Given the description of an element on the screen output the (x, y) to click on. 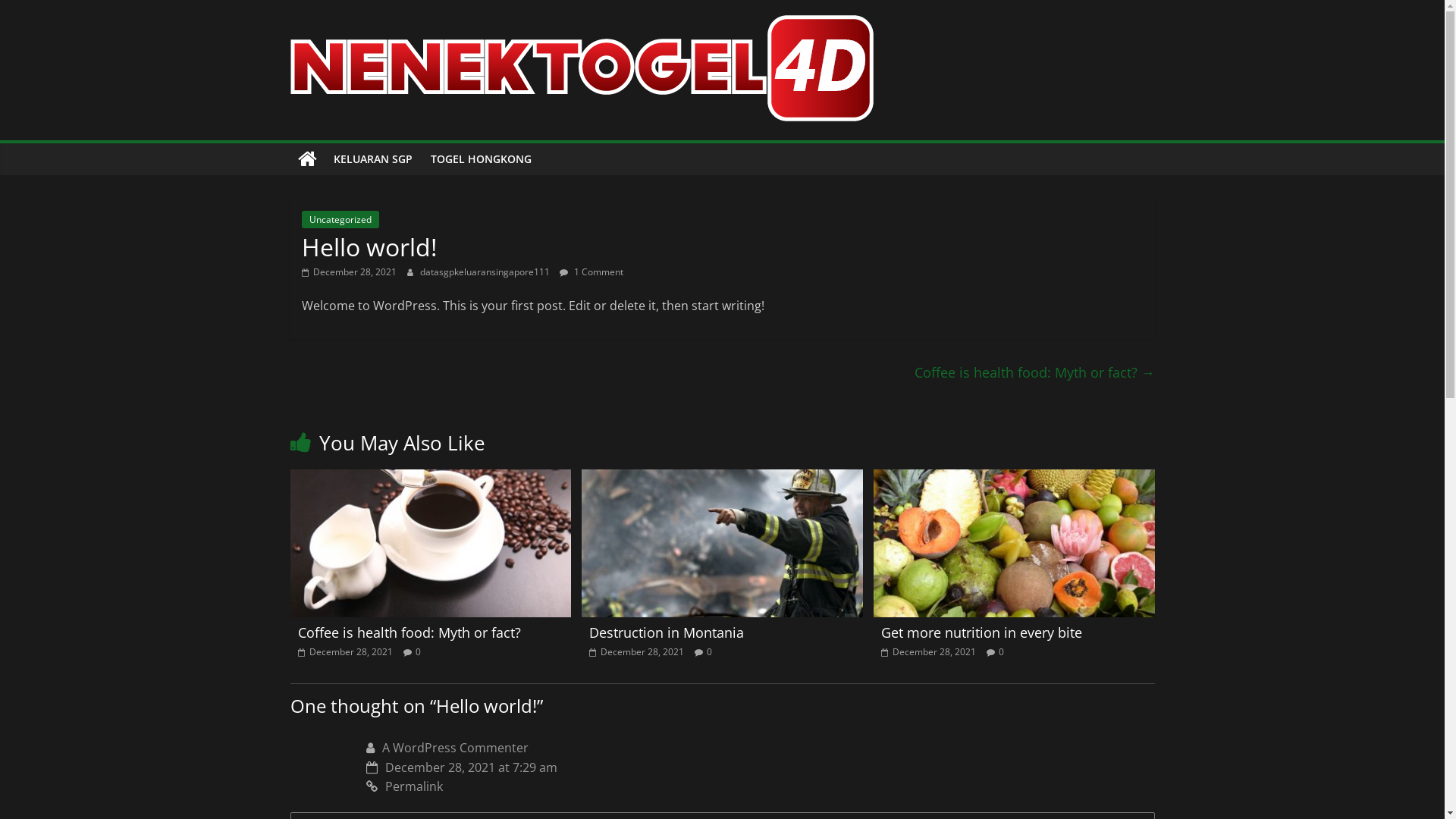
December 28, 2021 Element type: text (344, 651)
ColorMag Element type: text (368, 34)
Get more nutrition in every bite Element type: text (981, 632)
December 28, 2021 Element type: text (928, 651)
1 Comment Element type: text (591, 271)
Coffee is health food: Myth or fact? Element type: text (408, 632)
December 28, 2021 Element type: text (636, 651)
Destruction in Montania Element type: text (666, 632)
A WordPress Commenter Element type: text (455, 747)
ColorMag Element type: hover (306, 159)
Get more nutrition in every bite Element type: hover (1013, 478)
Destruction in Montania Element type: hover (721, 478)
December 28, 2021 Element type: text (348, 271)
datasgpkeluaransingapore111 Element type: text (486, 271)
TOGEL HONGKONG Element type: text (480, 159)
0 Element type: text (1001, 651)
Uncategorized Element type: text (340, 219)
0 Element type: text (709, 651)
Permalink Element type: text (759, 787)
0 Element type: text (417, 651)
KELUARAN SGP Element type: text (372, 159)
Coffee is health food: Myth or fact? Element type: hover (430, 478)
